Given the description of an element on the screen output the (x, y) to click on. 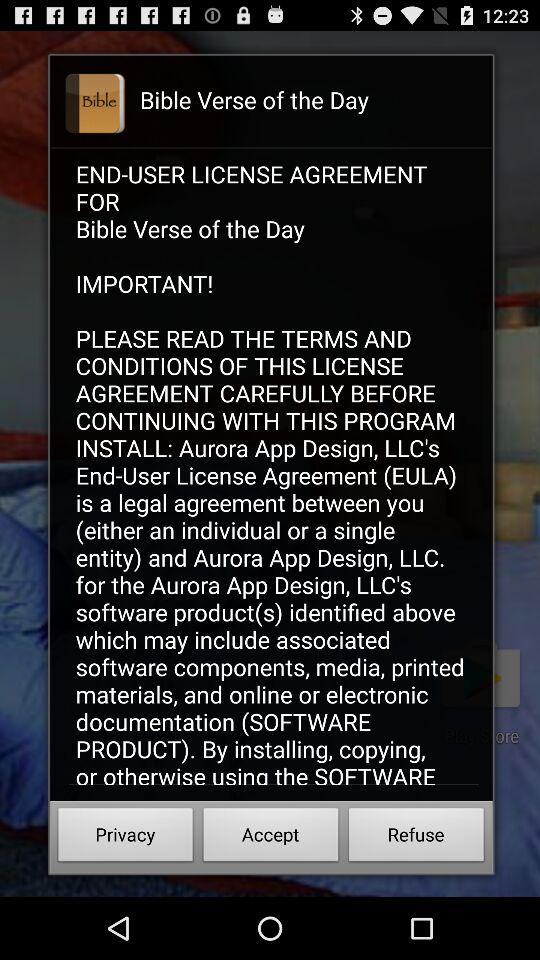
turn on the privacy at the bottom left corner (125, 837)
